Given the description of an element on the screen output the (x, y) to click on. 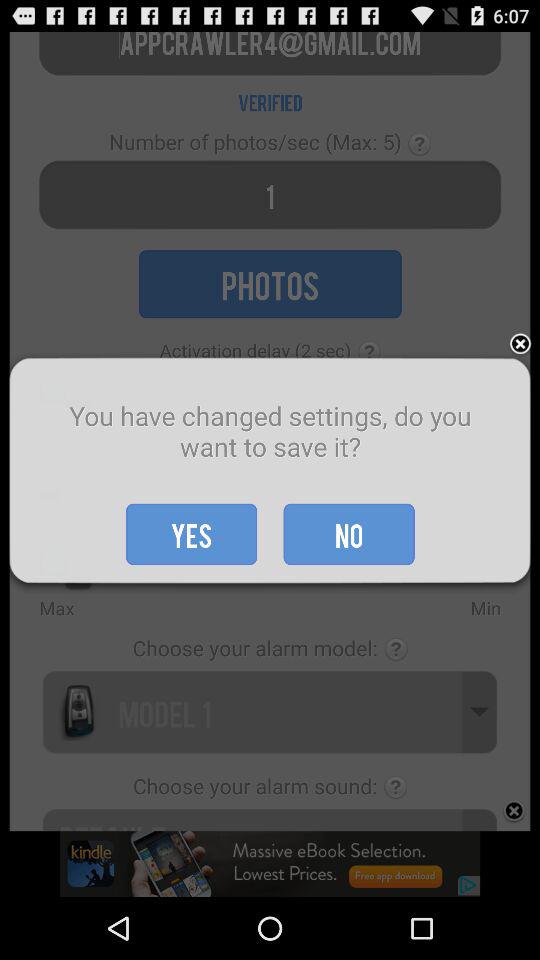
open the item to the left of no item (191, 534)
